Given the description of an element on the screen output the (x, y) to click on. 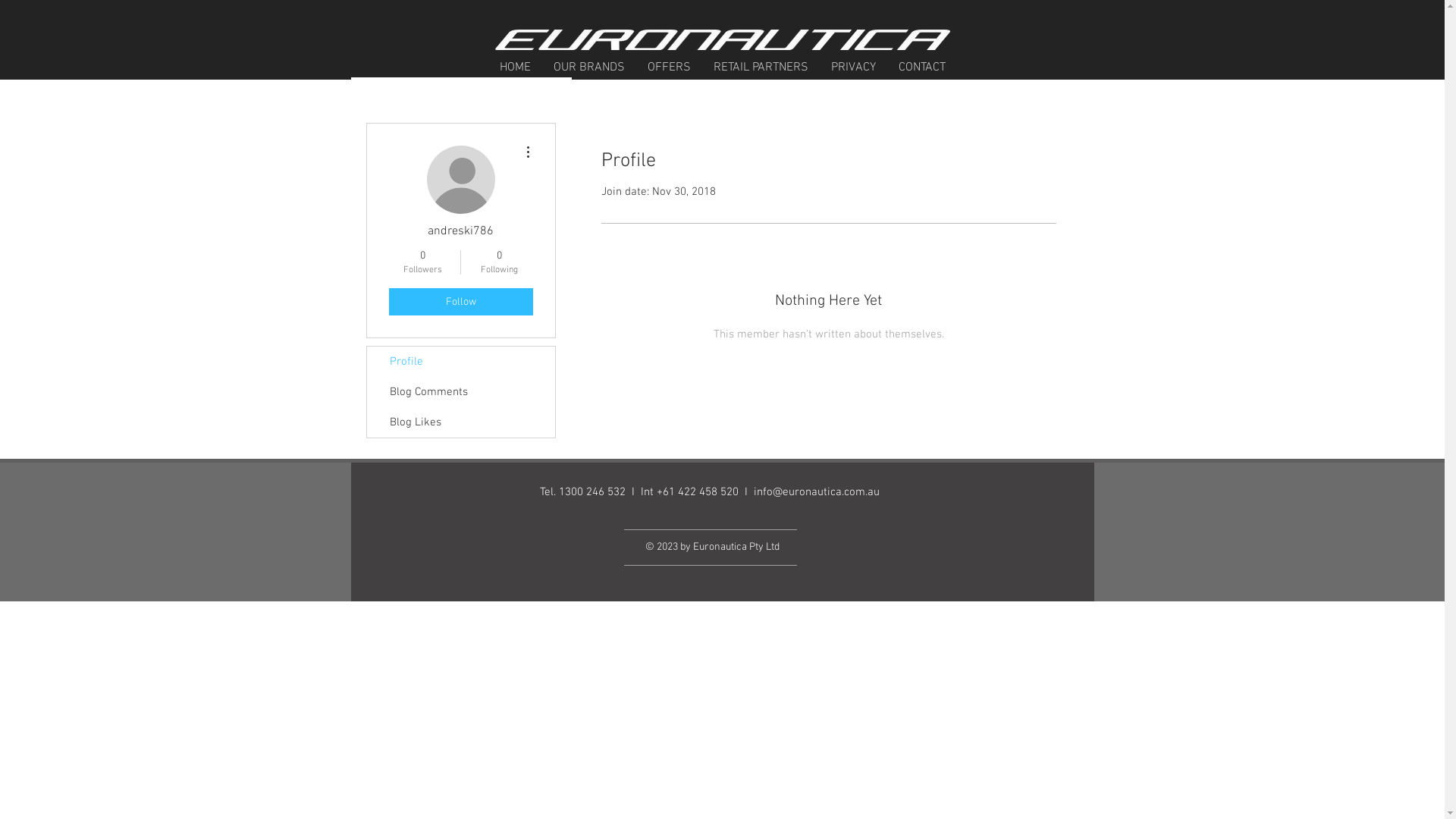
Blog Likes Element type: text (461, 422)
OUR BRANDS Element type: text (588, 67)
Blog Comments Element type: text (461, 391)
RETAIL PARTNERS Element type: text (760, 67)
Follow Element type: text (460, 301)
CONTACT Element type: text (922, 67)
0
Following Element type: text (499, 262)
info@euronautica.com.au Element type: text (816, 491)
PRIVACY Element type: text (852, 67)
OFFERS Element type: text (668, 67)
Profile Element type: text (461, 361)
HOME Element type: text (515, 67)
0
Followers Element type: text (421, 262)
